Given the description of an element on the screen output the (x, y) to click on. 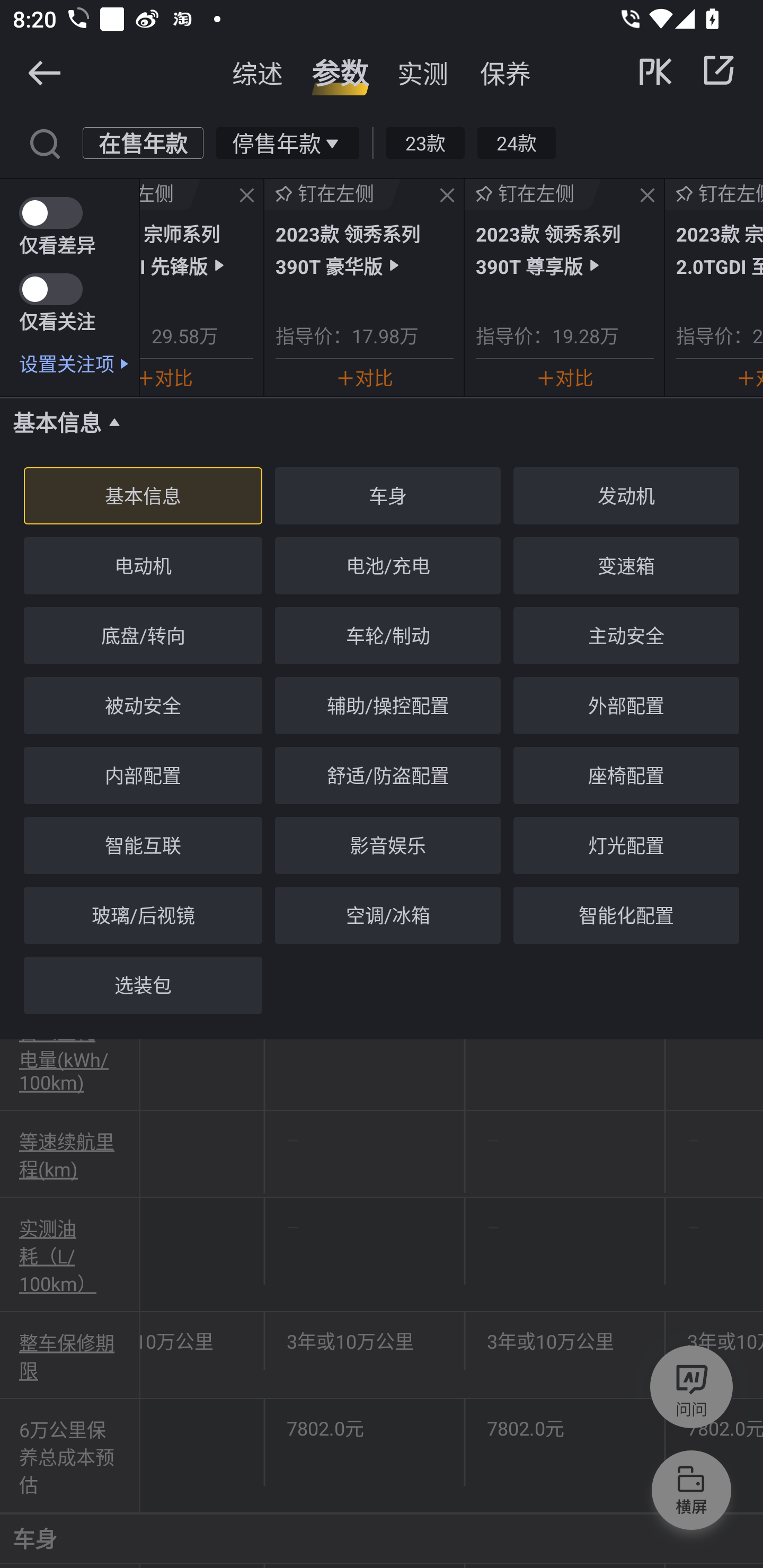
  (688, 70)
综述 (257, 72)
实测 (422, 72)
保养 (505, 72)
 (718, 70)
 (44, 71)
 (44, 142)
在售年款 (142, 142)
停售年款  (287, 142)
23款 (425, 142)
24款 (516, 142)
 钉在左侧 (169, 194)
 (246, 195)
 钉在左侧 (332, 194)
 (446, 195)
 钉在左侧 (532, 194)
 (647, 195)
2024款 宗师系列 2.0TGDI 先锋版  (196, 249)
2023款 领秀系列 390T 豪华版  (364, 249)
2023款 领秀系列 390T 尊享版  (564, 249)
设置关注项  (79, 363)
对比 (166, 377)
对比 (363, 377)
对比 (564, 377)
基本信息  (381, 422)
基本信息 (142, 495)
车身 (387, 495)
发动机 (626, 495)
电动机 (142, 565)
电池/充电 (387, 565)
变速箱 (626, 565)
底盘/转向 (142, 635)
车轮/制动 (387, 635)
主动安全 (626, 635)
被动安全 (142, 705)
辅助/操控配置 (387, 705)
外部配置 (626, 705)
内部配置 (142, 775)
舒适/防盗配置 (387, 775)
座椅配置 (626, 775)
智能互联 (142, 844)
影音娱乐 (387, 844)
灯光配置 (626, 844)
玻璃/后视镜 (142, 915)
空调/冰箱 (387, 915)
智能化配置 (626, 915)
选装包 (142, 985)
百公里耗电量(kWh/100km) (69, 1055)
等速续航里程(km) (69, 1154)
实测油耗（L/100km） (69, 1254)
3年或10万公里 (201, 1341)
3年或10万公里 (364, 1341)
3年或10万公里 (564, 1341)
整车保修期限 (69, 1355)
 问问 (691, 1389)
7802.0元 (364, 1427)
7802.0元 (564, 1427)
6万公里保养总成本预估 (69, 1455)
